Given the description of an element on the screen output the (x, y) to click on. 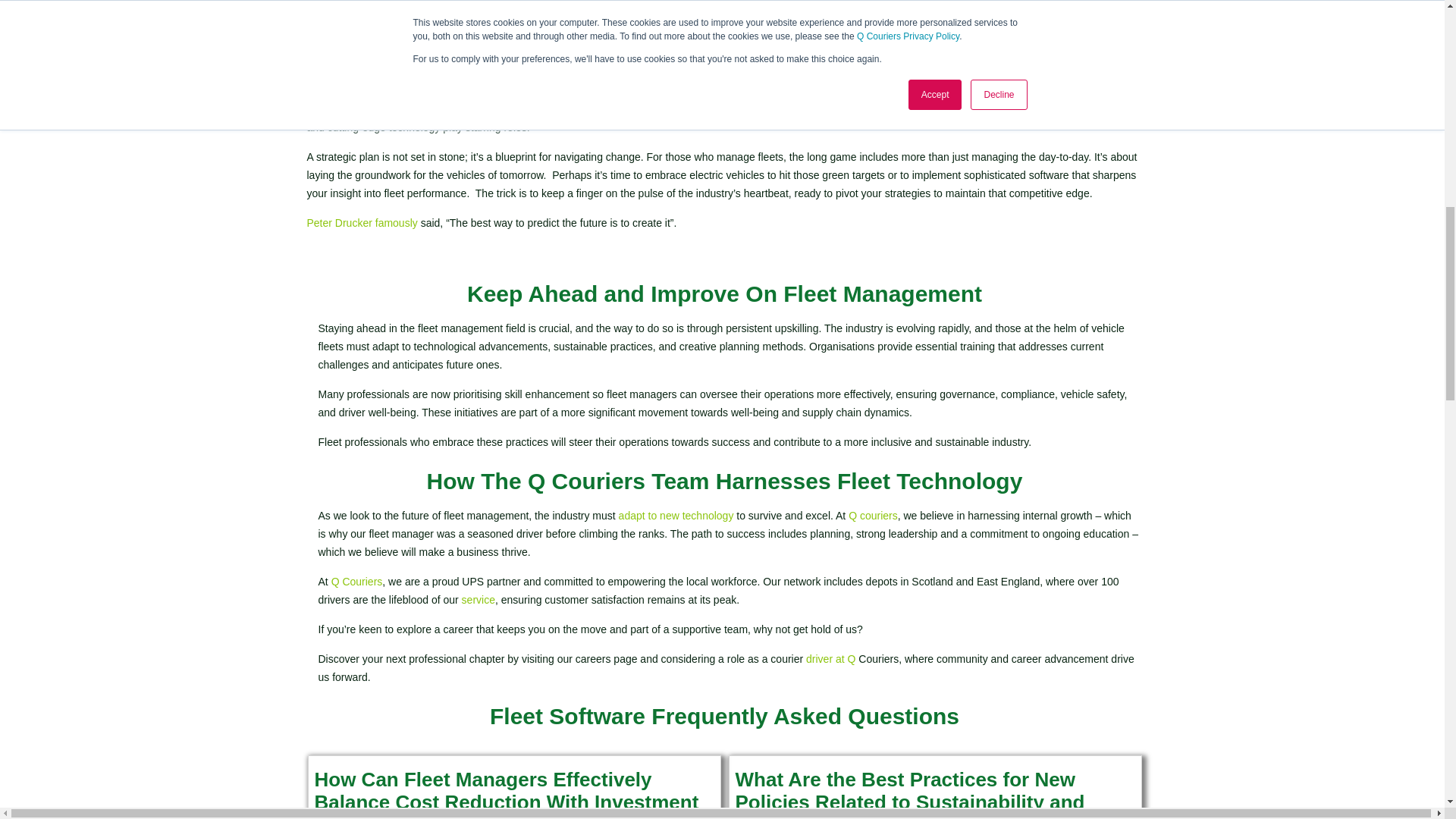
Q Couriers (356, 581)
Q couriers (873, 515)
Peter Drucker famously  (362, 223)
service (478, 599)
adapt to new technology (675, 515)
